Given the description of an element on the screen output the (x, y) to click on. 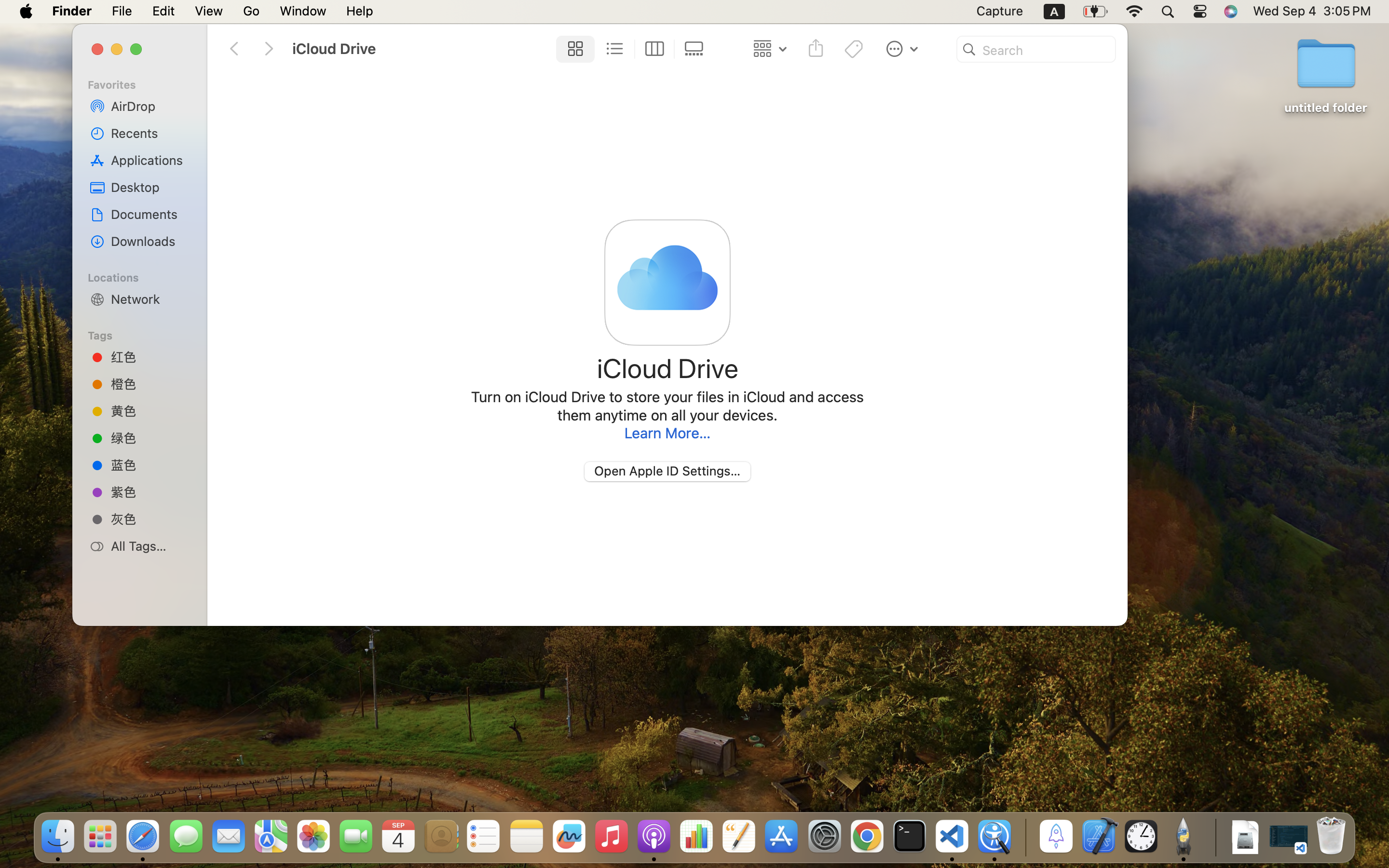
0.4285714328289032 Element type: AXDockItem (1024, 836)
0 Element type: AXRadioButton (696, 48)
Locations Element type: AXStaticText (144, 276)
All Tags… Element type: AXStaticText (149, 545)
紫色 Element type: AXStaticText (149, 491)
